Given the description of an element on the screen output the (x, y) to click on. 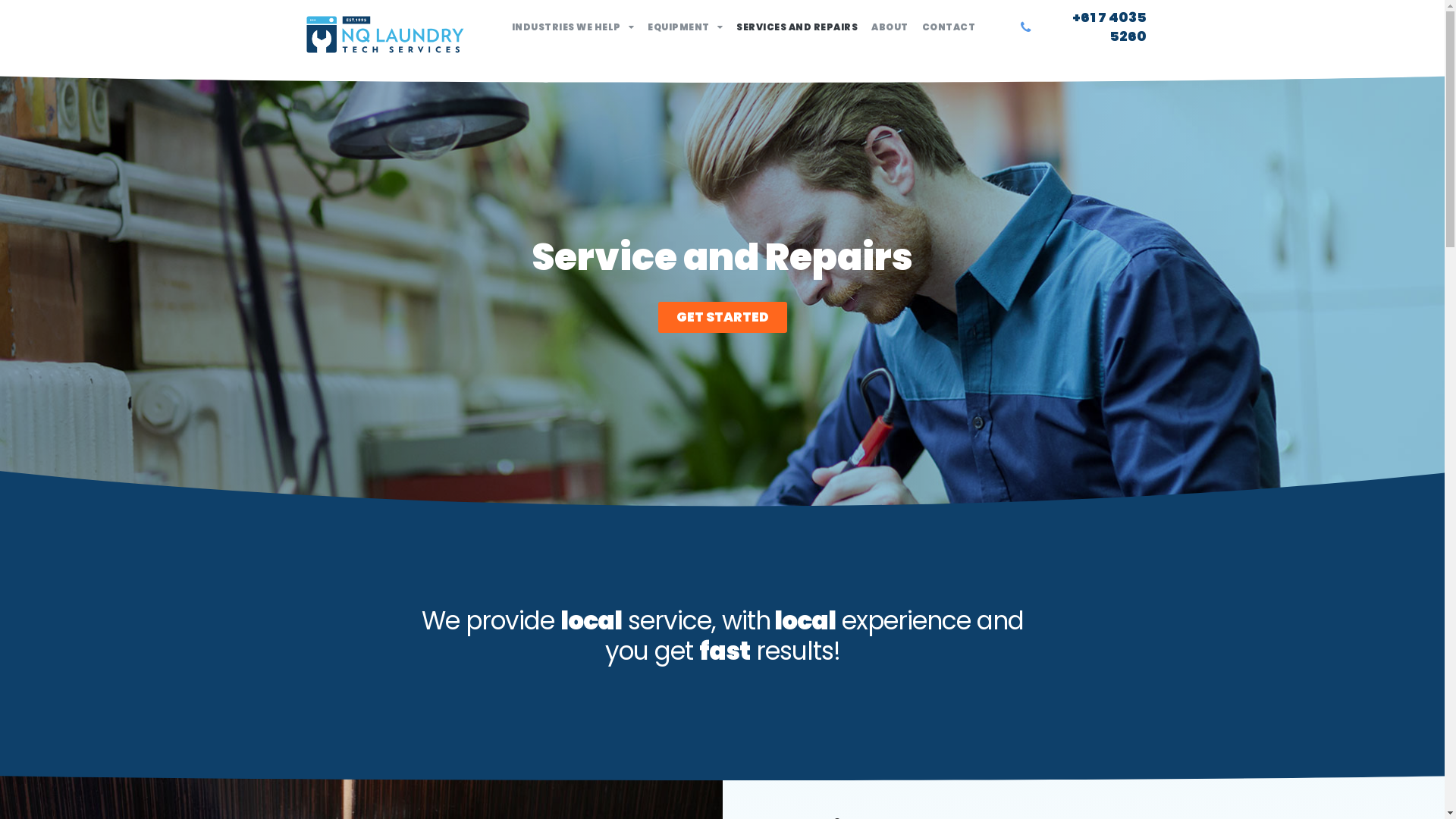
INDUSTRIES WE HELP Element type: text (573, 27)
SERVICES AND REPAIRS Element type: text (796, 27)
GET STARTED Element type: text (722, 316)
ABOUT Element type: text (889, 27)
CONTACT Element type: text (948, 27)
EQUIPMENT Element type: text (684, 27)
